Given the description of an element on the screen output the (x, y) to click on. 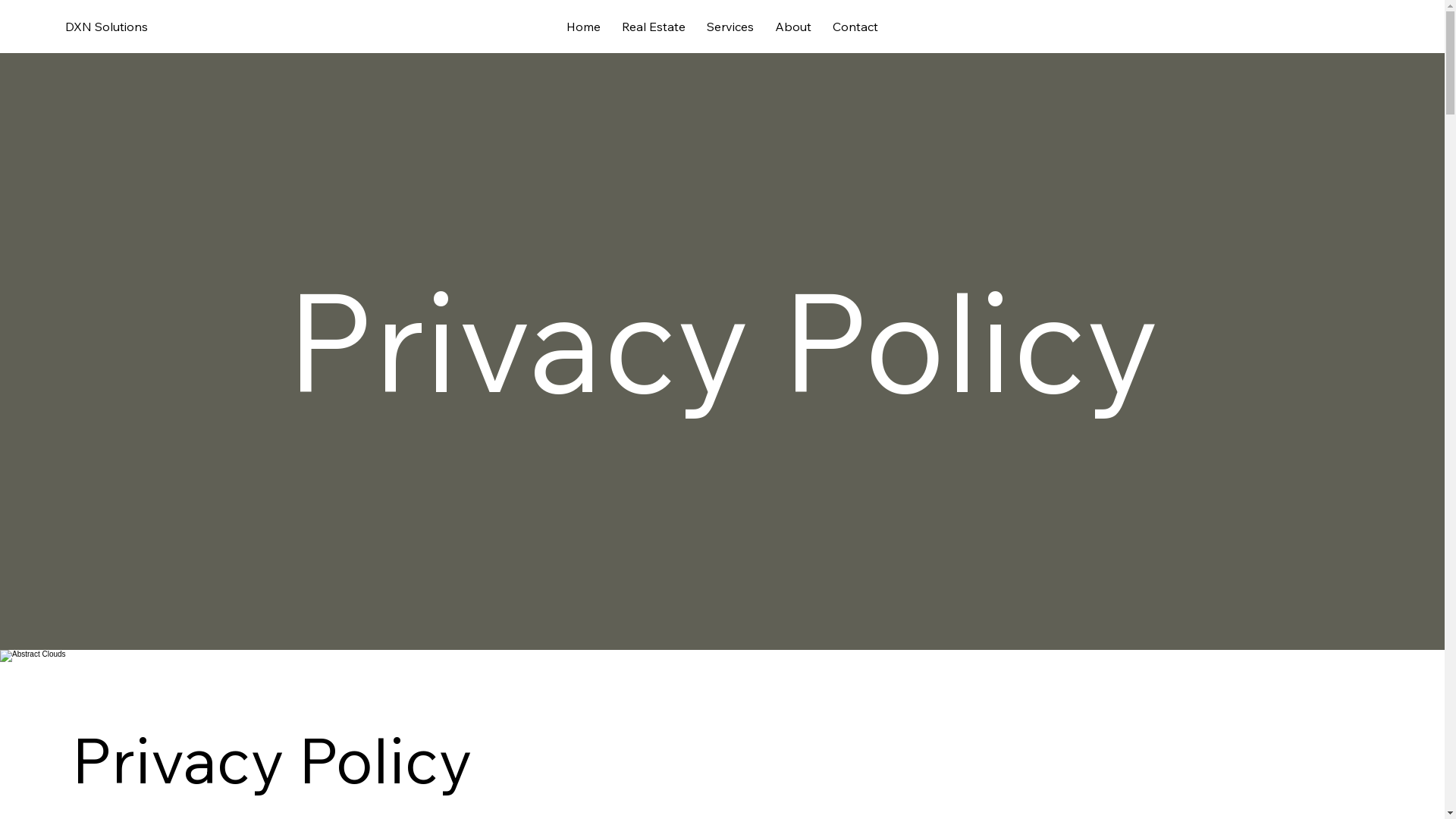
About Element type: text (793, 26)
Home Element type: text (583, 26)
Services Element type: text (730, 26)
Contact Element type: text (855, 26)
Real Estate Element type: text (653, 26)
